Given the description of an element on the screen output the (x, y) to click on. 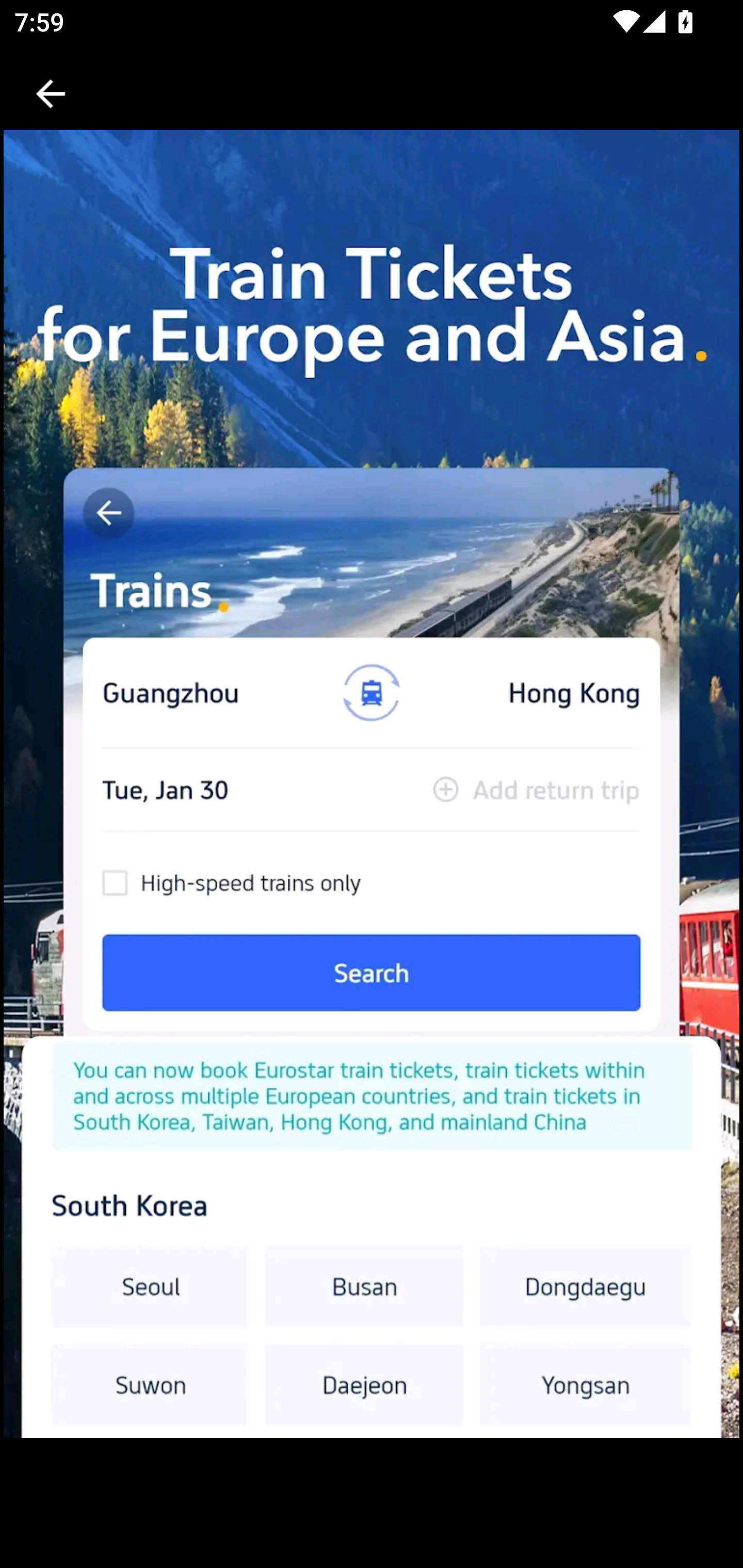
Back (50, 93)
